Given the description of an element on the screen output the (x, y) to click on. 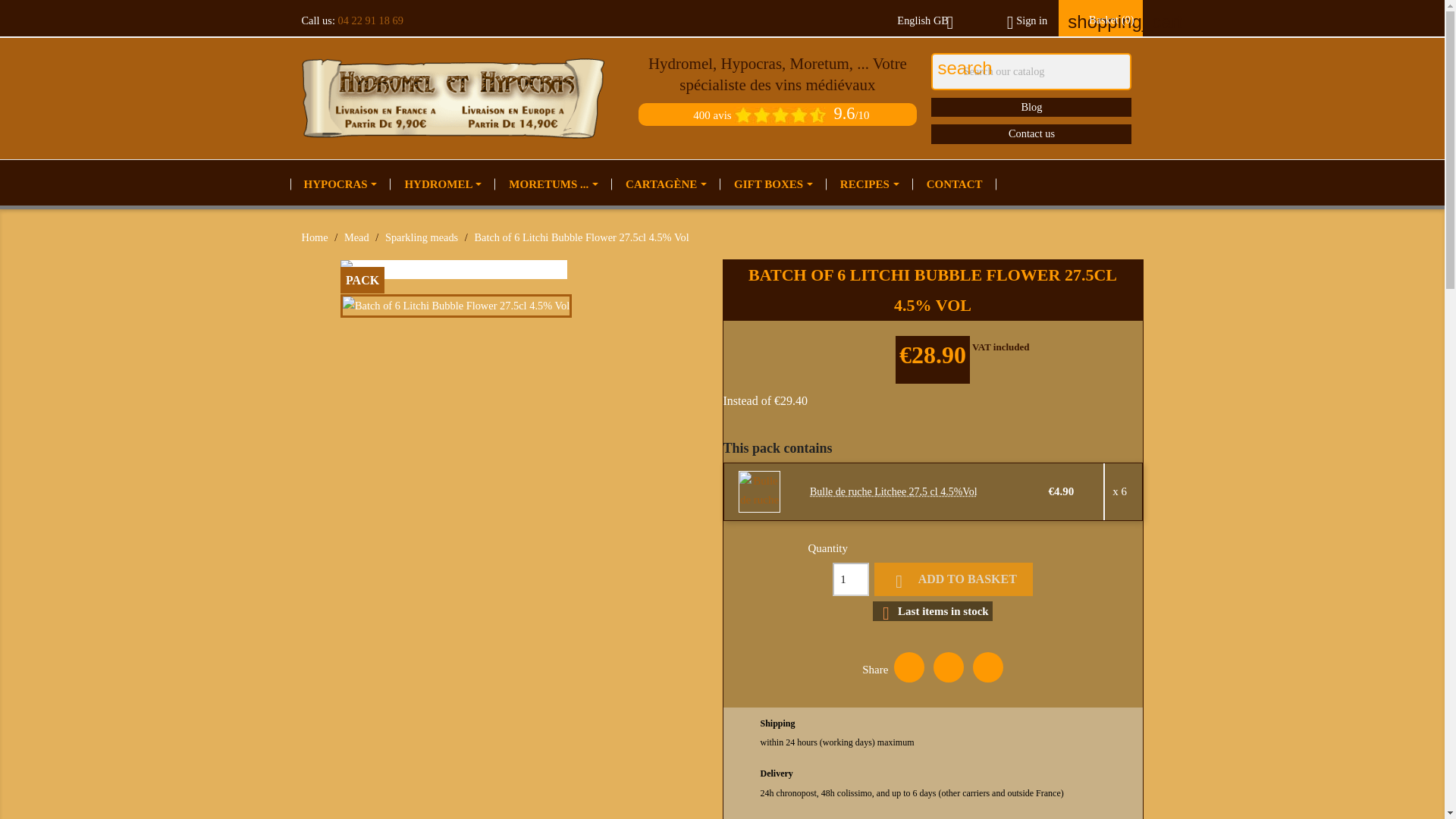
Pinterest (987, 666)
Blog (1031, 107)
HYDROMEL (442, 184)
GIFT BOXES (773, 184)
Contact us (1031, 133)
Tweet (948, 666)
04 22 91 18 69 (370, 20)
MORETUMS ... (553, 184)
Share (908, 666)
1 (850, 579)
